Given the description of an element on the screen output the (x, y) to click on. 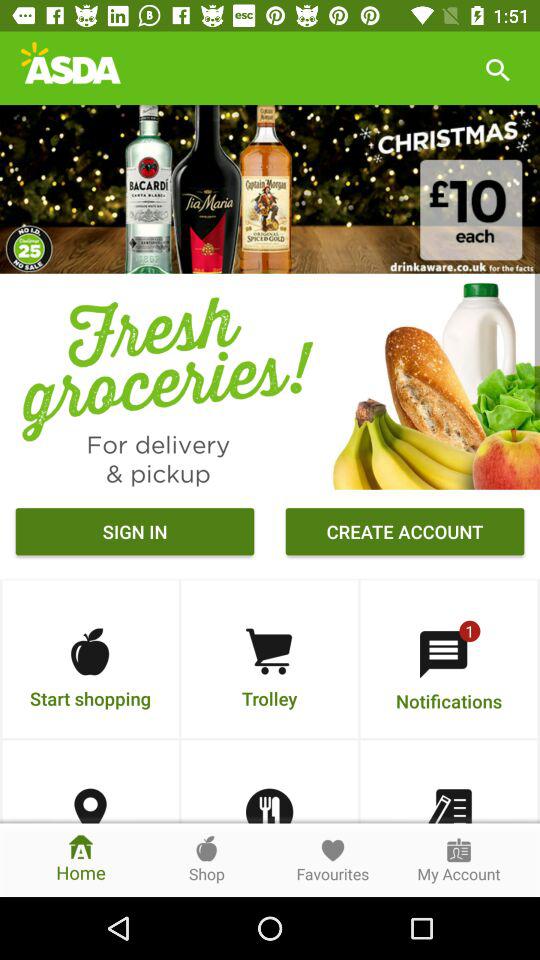
turn off item next to the create account icon (134, 534)
